Given the description of an element on the screen output the (x, y) to click on. 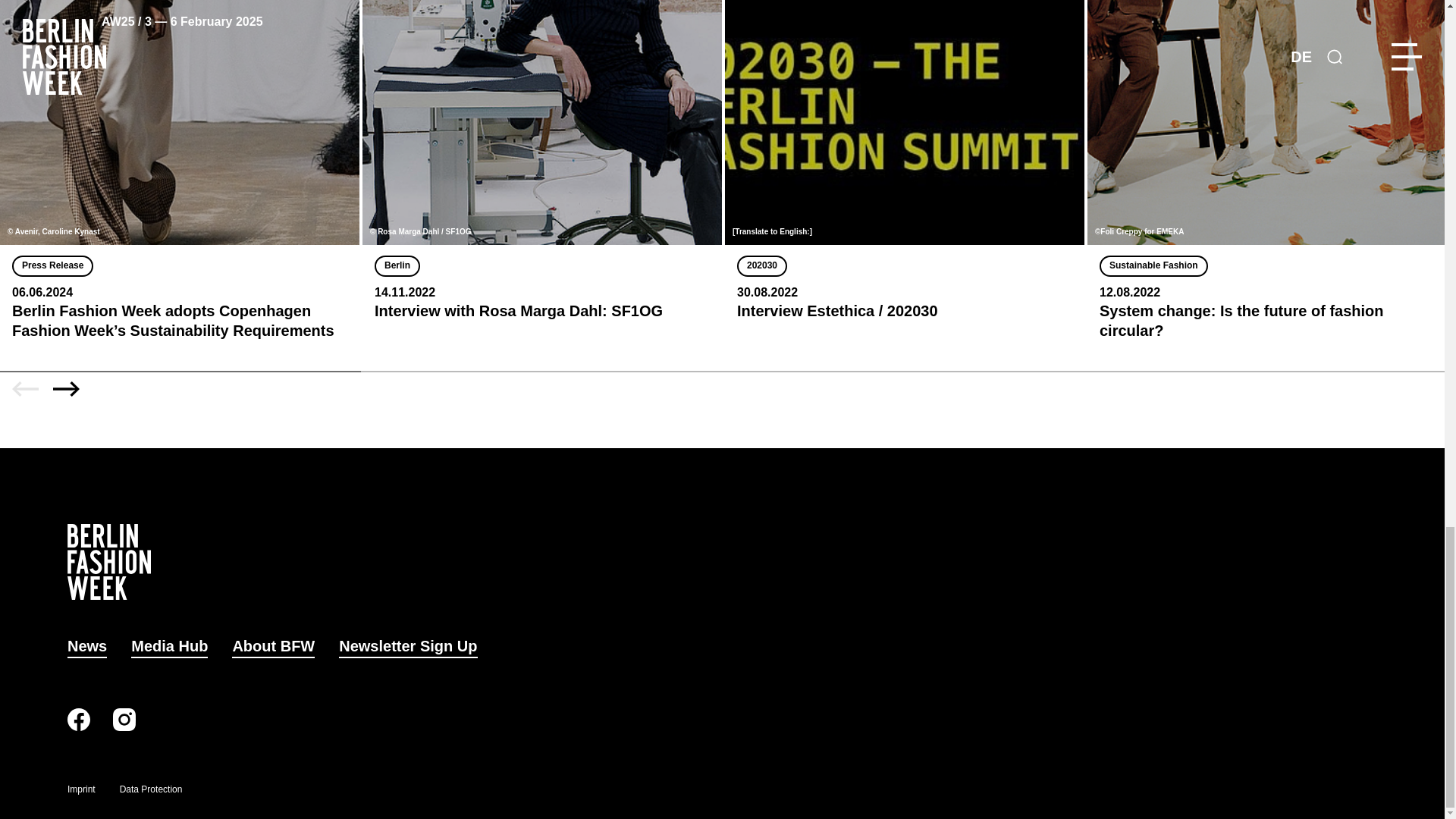
Interview with Rosa Marga Dahl: SF1OG (542, 165)
